Given the description of an element on the screen output the (x, y) to click on. 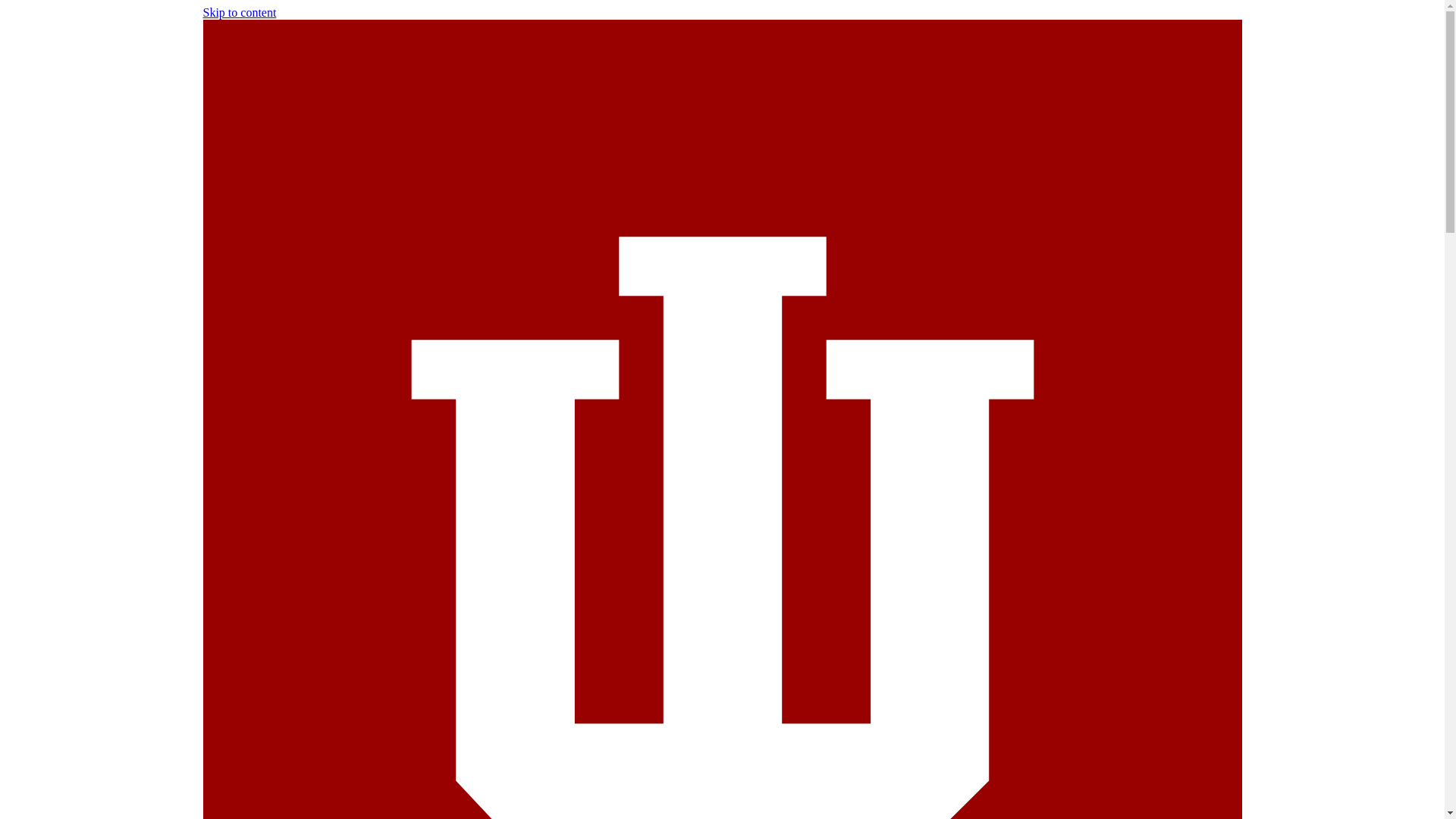
Skip to content (239, 11)
